Given the description of an element on the screen output the (x, y) to click on. 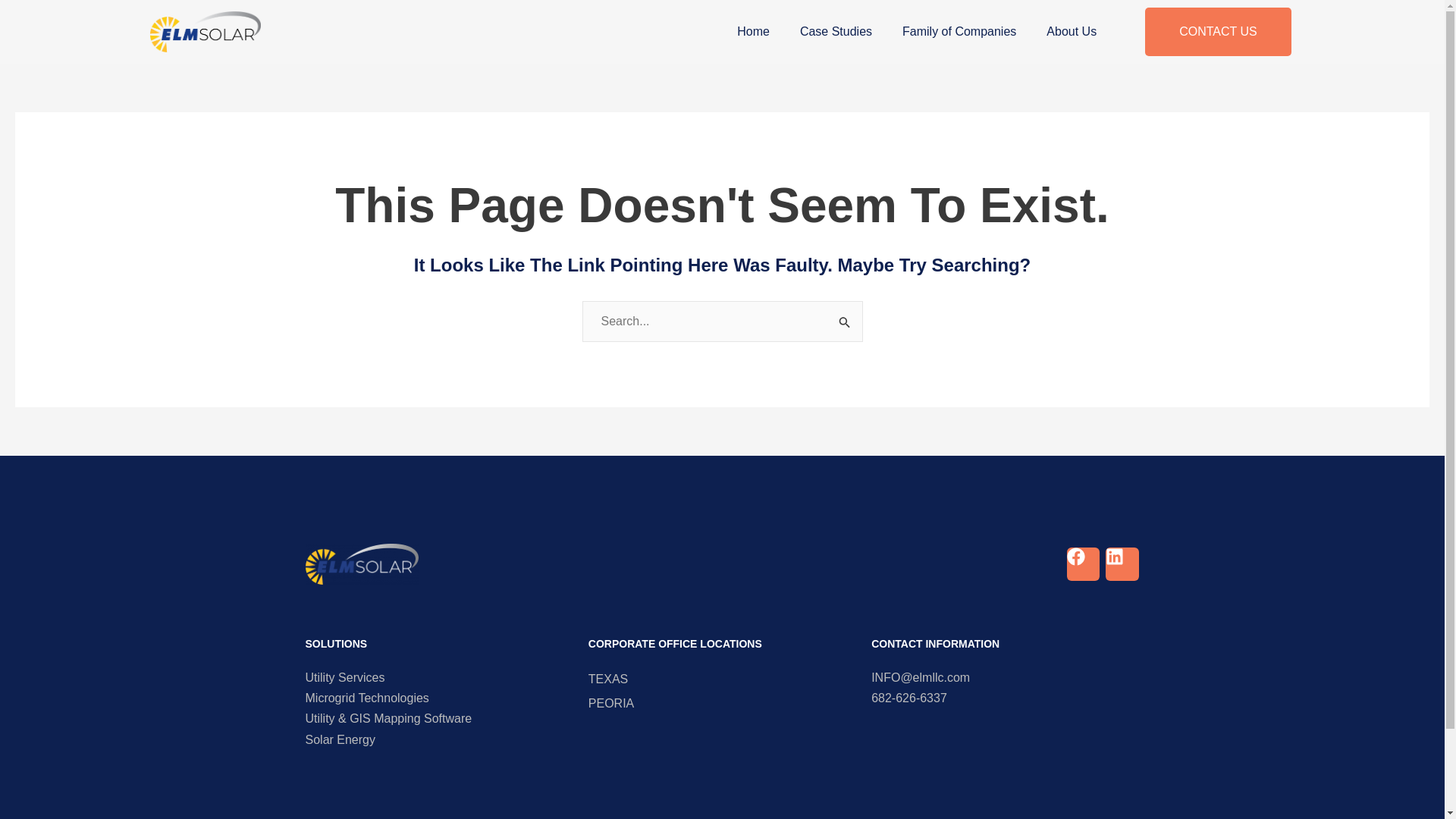
Search (844, 320)
Facebook (1083, 563)
Utility Services (438, 677)
Search (844, 320)
Linkedin (1121, 563)
Microgrid Technologies (438, 698)
Search (844, 320)
Case Studies (835, 31)
Home (753, 31)
CONTACT US (1217, 31)
